Given the description of an element on the screen output the (x, y) to click on. 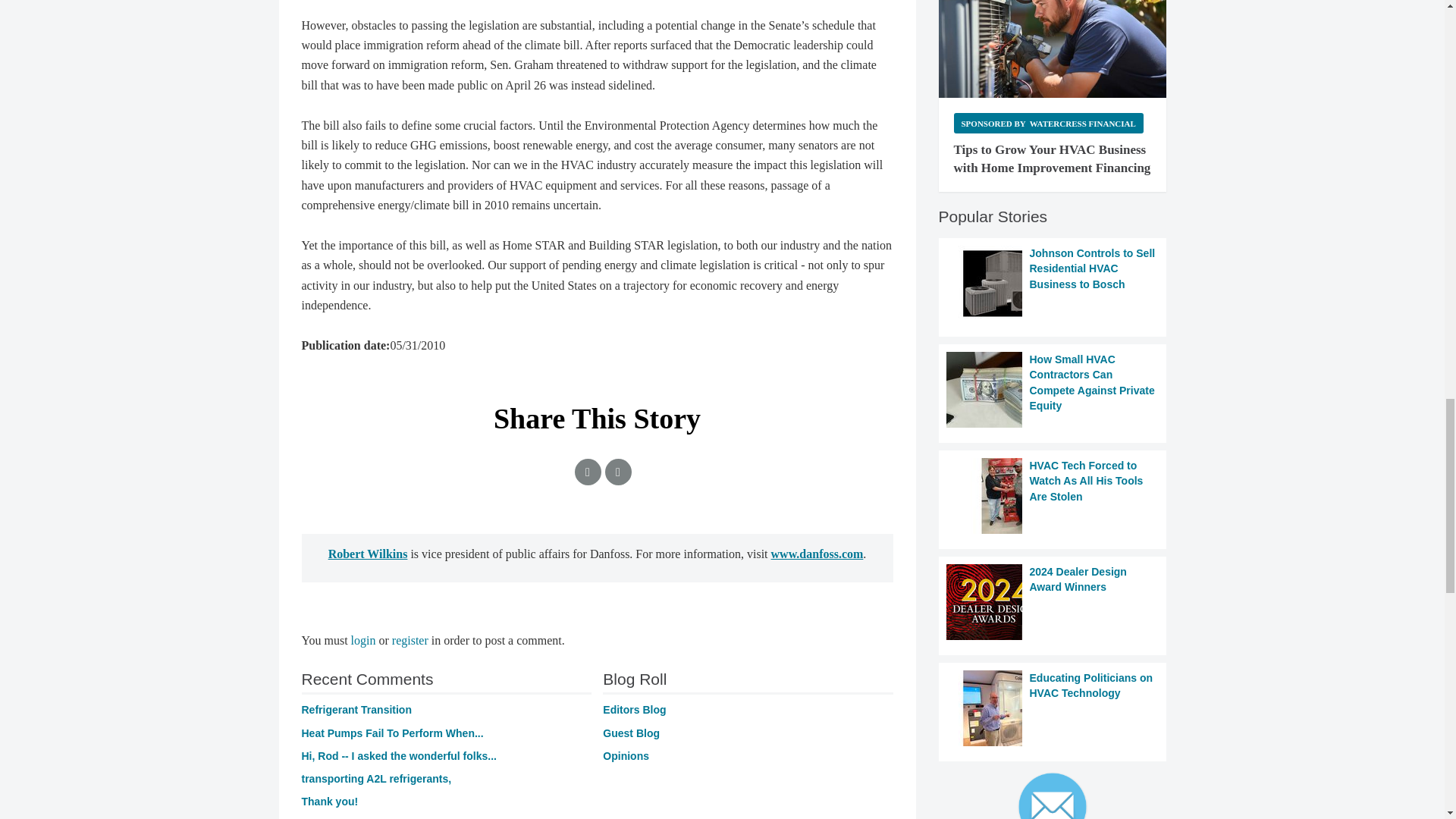
Guest Blog (630, 732)
Are HVAC Contractors Getting the Message on Heat Pumps? (392, 732)
Technician Working on HVAC Unit (1052, 48)
Sponsored by Watercress Financial (1047, 123)
Johnson Controls to Sell Residential HVAC Business to Bosch (1052, 283)
Refrigerant Transition Takes a Big Step in 2025 (356, 709)
Educating Politicians on HVAC Technology (1052, 708)
HVAC Tech Forced to Watch As All His Tools Are Stolen (1052, 495)
Opinions (625, 756)
2024 Dealer Design Award Winners (1052, 601)
Editors Blog (633, 709)
Homeowners Views on HVAC Go Public (329, 801)
